Given the description of an element on the screen output the (x, y) to click on. 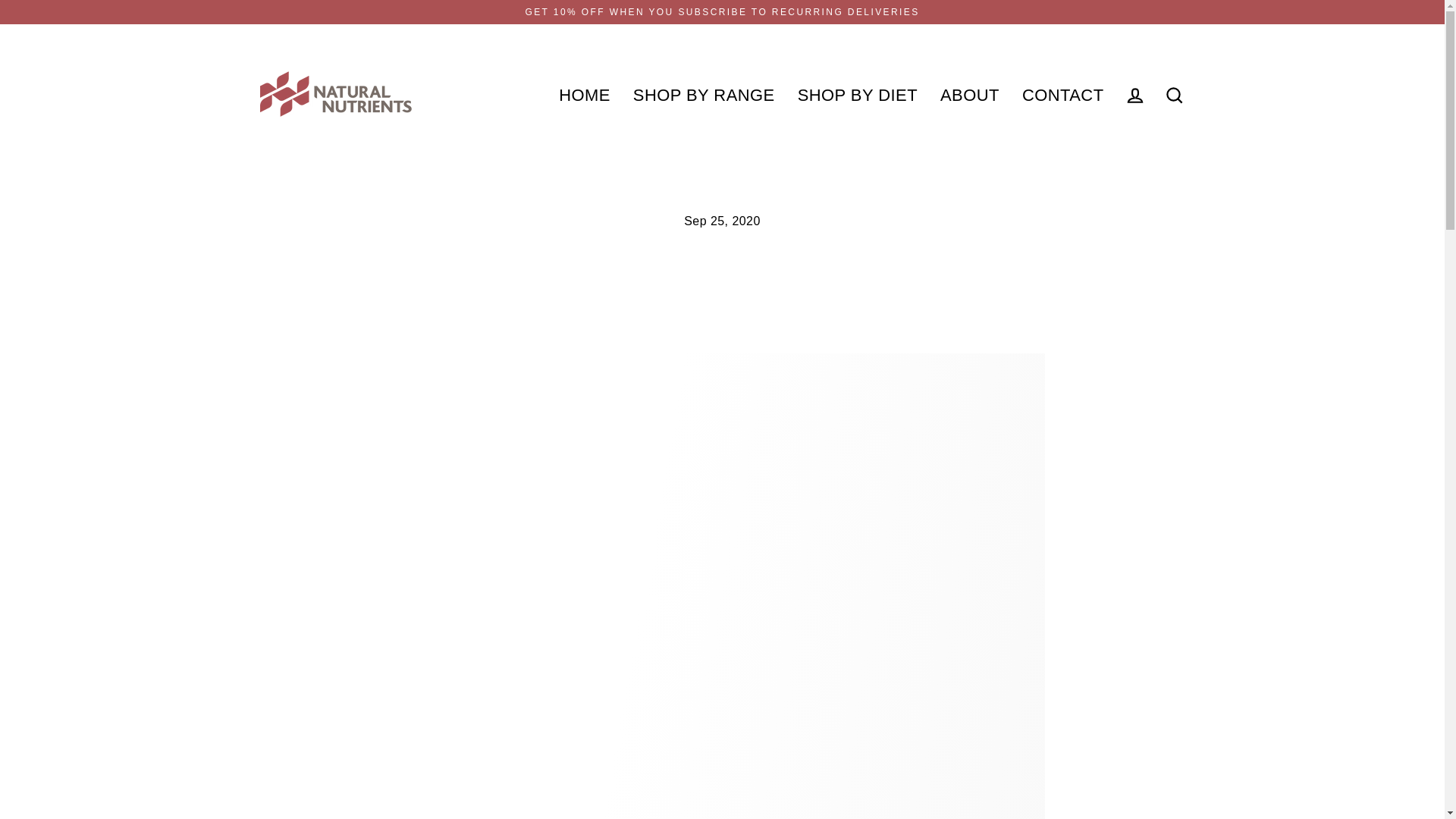
SHOP BY RANGE (703, 94)
HOME (584, 94)
